Given the description of an element on the screen output the (x, y) to click on. 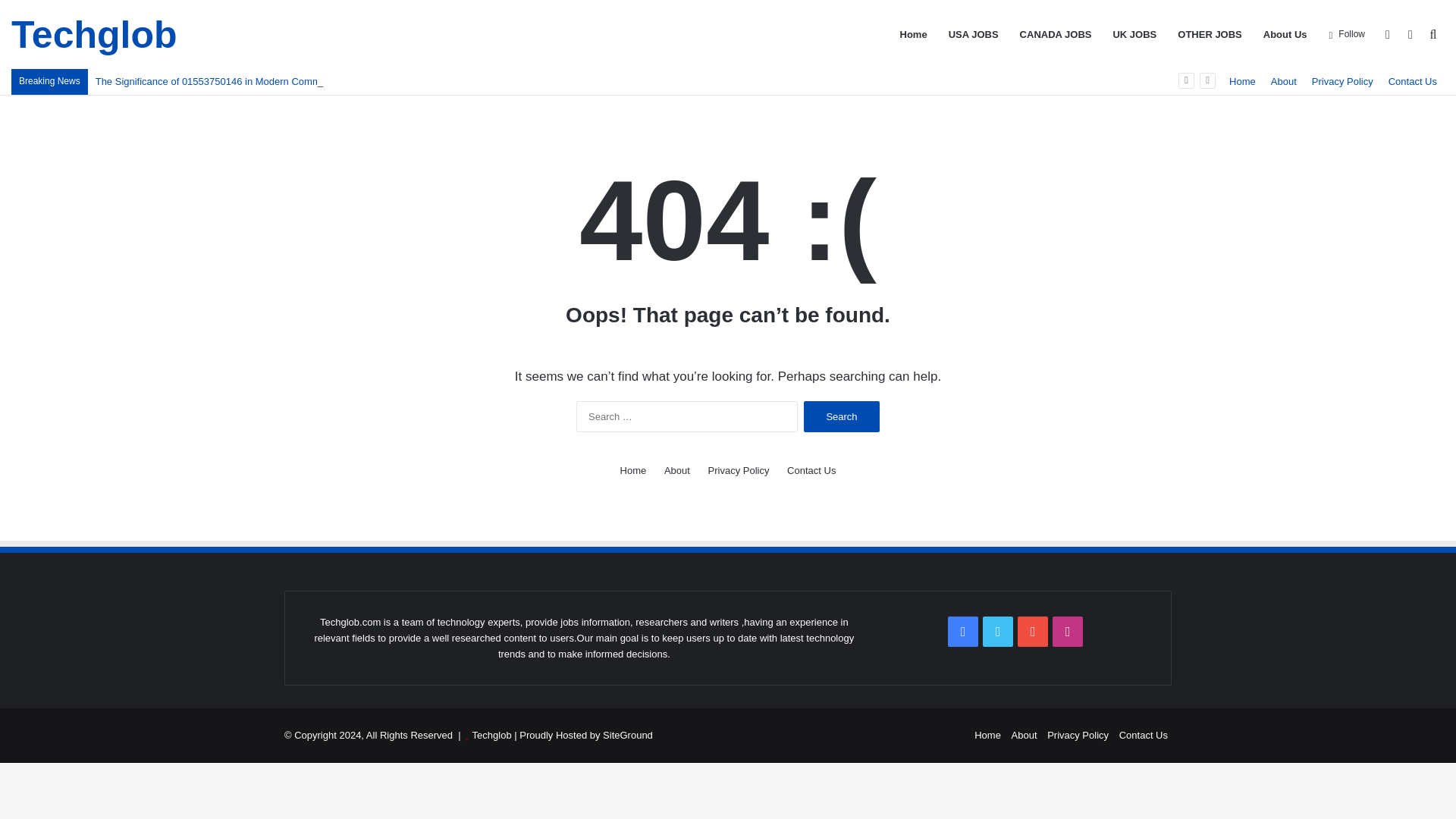
Home (633, 470)
SiteGround (627, 735)
Facebook (962, 631)
UK JOBS (1134, 33)
Privacy Policy (1077, 735)
Techglob (94, 34)
Instagram (1067, 631)
Privacy Policy (1342, 81)
About (1283, 81)
CANADA JOBS (1055, 33)
